Given the description of an element on the screen output the (x, y) to click on. 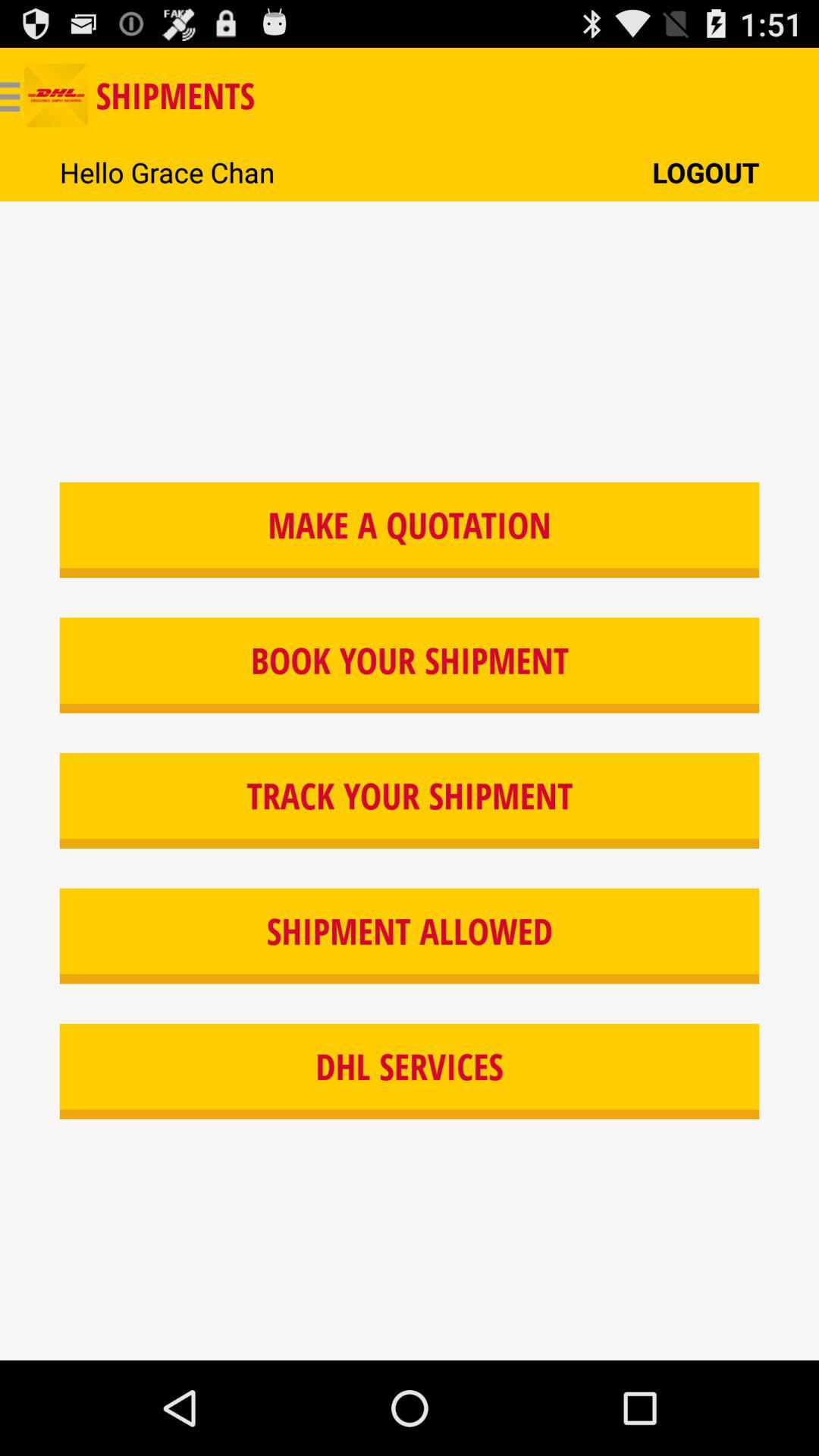
turn off the icon next to the hello grace chan icon (705, 172)
